Given the description of an element on the screen output the (x, y) to click on. 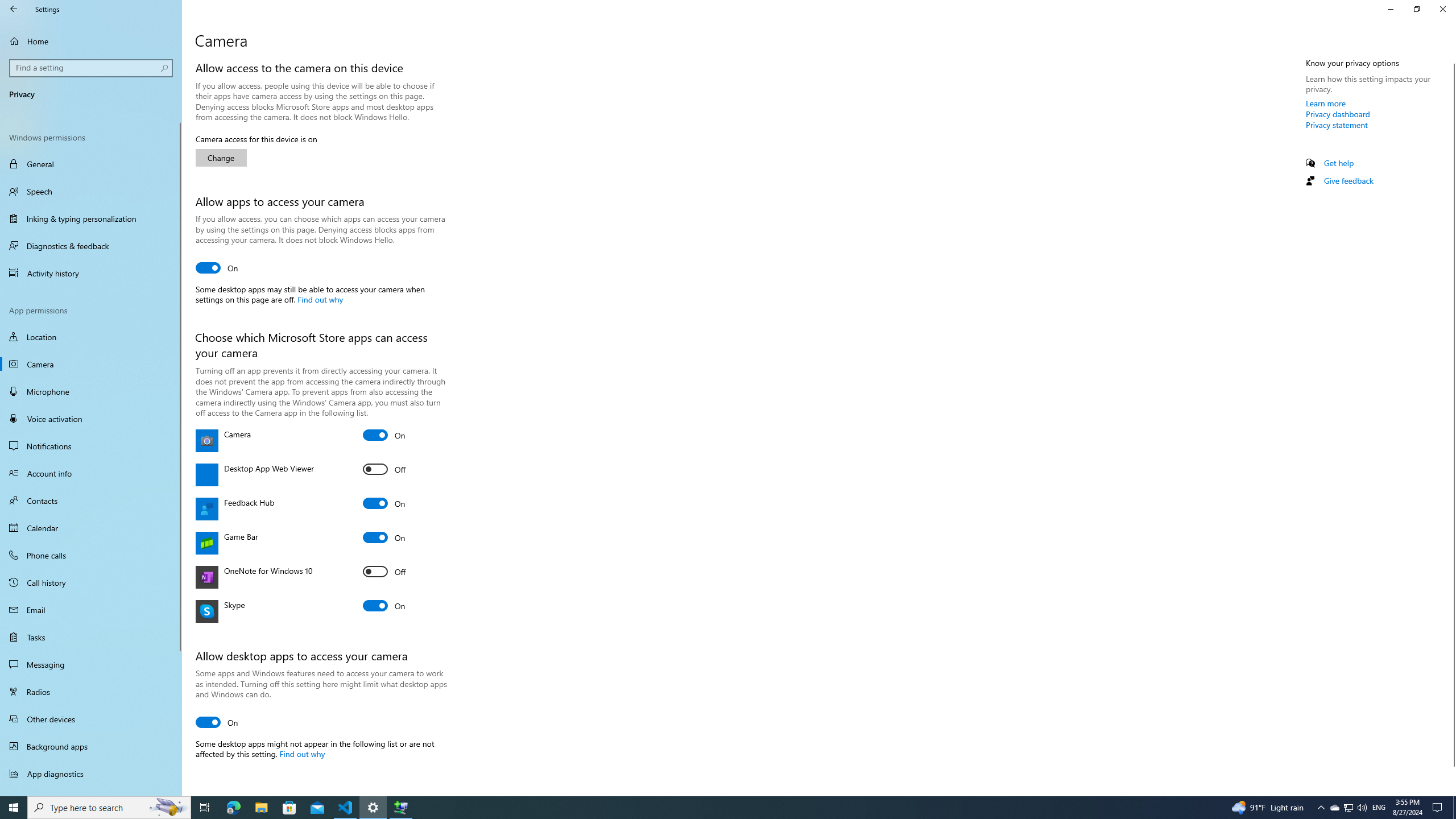
Automatic file downloads (91, 791)
Skype (384, 605)
Desktop App Web Viewer (384, 469)
Account info (91, 472)
Radios (91, 691)
Running applications (706, 807)
Extensible Wizards Host Process - 1 running window (400, 807)
Other devices (91, 718)
Tasks (91, 636)
Calendar (91, 527)
App diagnostics (91, 773)
Microphone (91, 390)
